Given the description of an element on the screen output the (x, y) to click on. 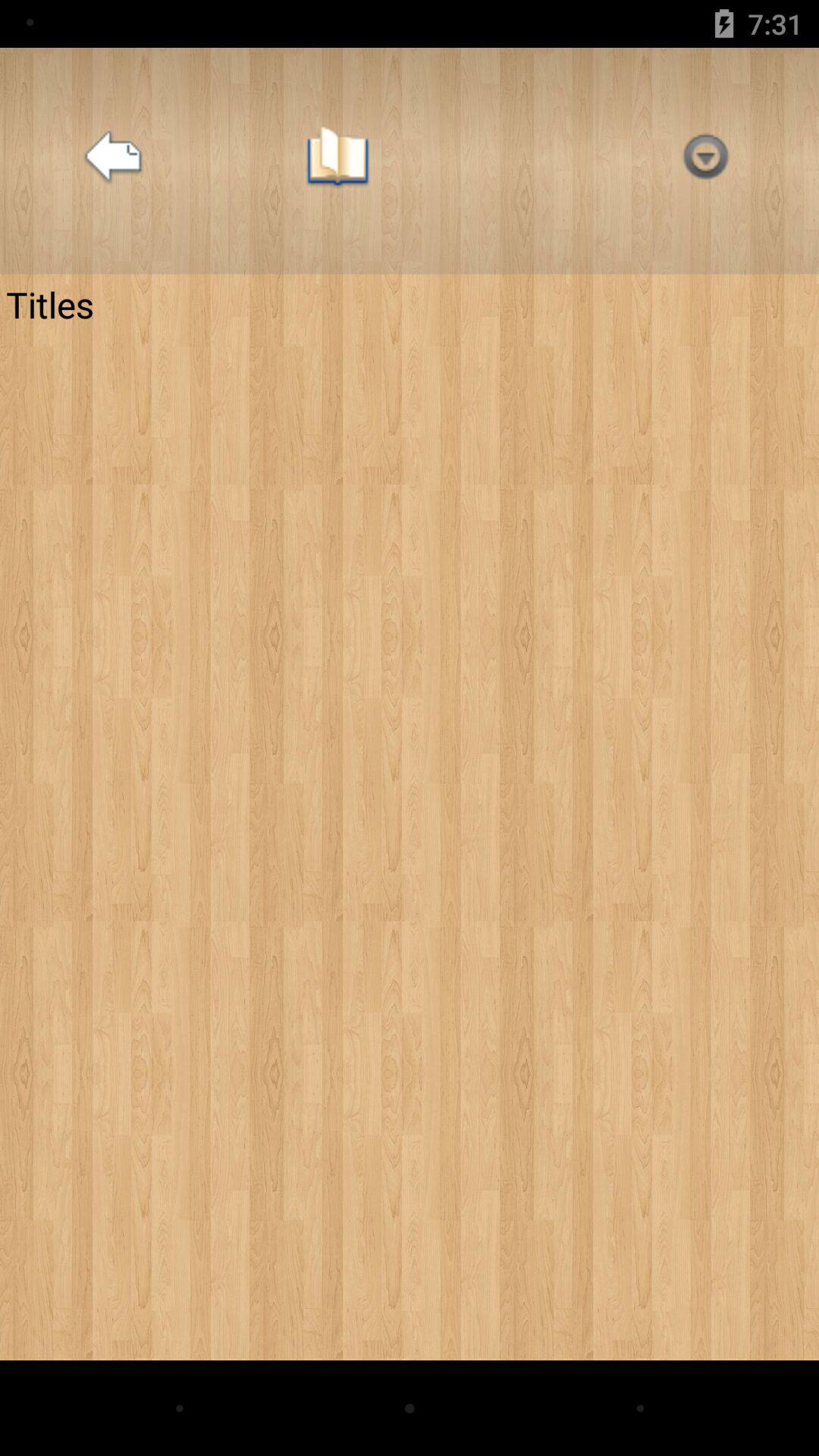
click the icon at the top right corner (705, 160)
